Given the description of an element on the screen output the (x, y) to click on. 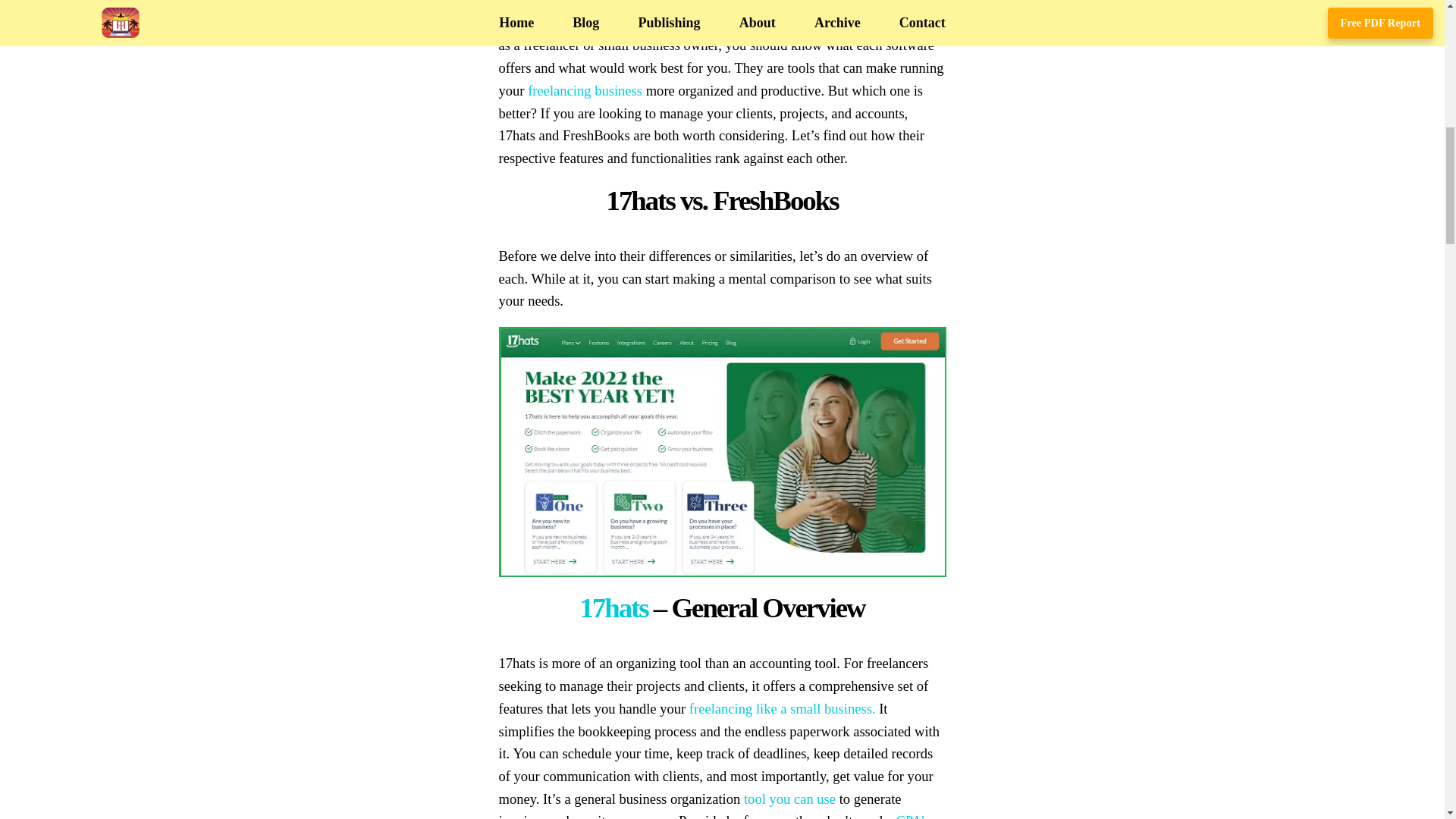
freelancing like a small business. (782, 708)
freelancing business (584, 90)
17hats (613, 607)
tool you can use (789, 798)
